Given the description of an element on the screen output the (x, y) to click on. 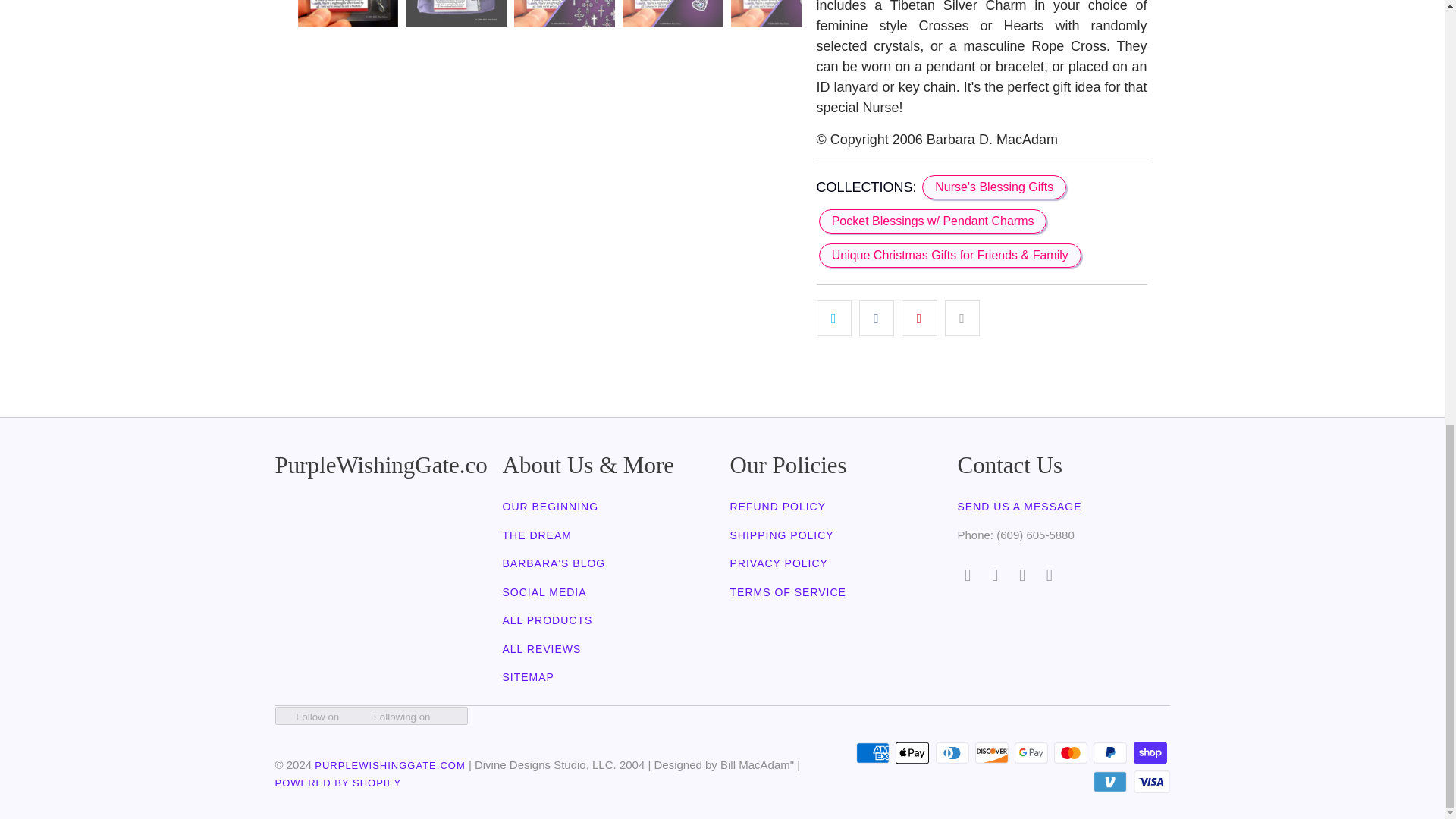
Shop Pay (1150, 753)
Apple Pay (913, 753)
Visa (1150, 781)
Diners Club (954, 753)
Mastercard (1072, 753)
Venmo (1111, 781)
Google Pay (1032, 753)
American Express (874, 753)
Discover (993, 753)
Nurse's Blessing Gifts (993, 187)
PayPal (1111, 753)
